Given the description of an element on the screen output the (x, y) to click on. 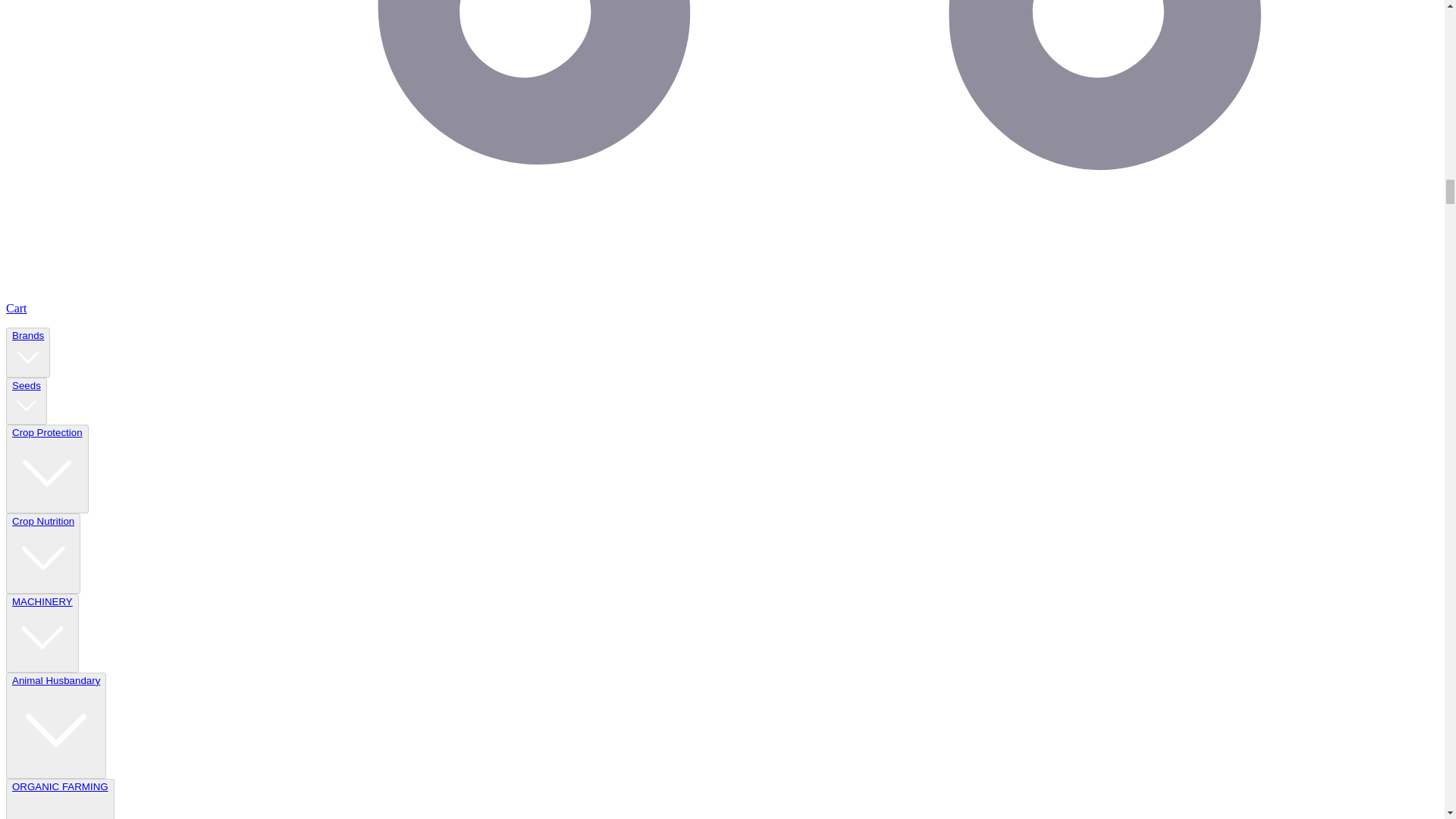
ORGANIC FARMING (59, 800)
Animal Husbandary (55, 725)
Crop Nutrition (42, 553)
ORGANIC FARMING (60, 798)
MACHINERY (41, 632)
Crop Protection (46, 469)
